Given the description of an element on the screen output the (x, y) to click on. 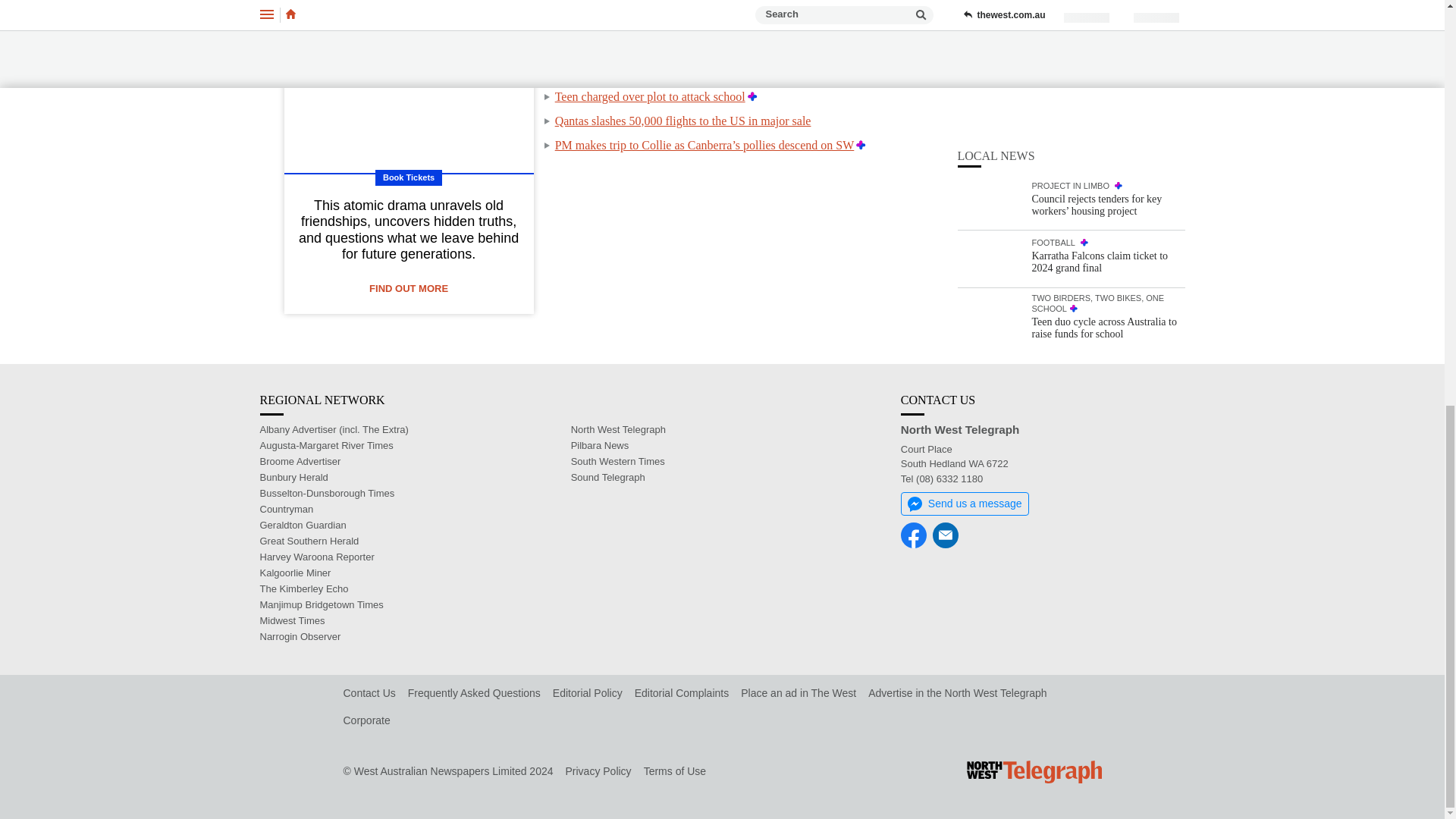
PREMIUM (1118, 173)
Premium (751, 96)
Premium (825, 23)
Premium (860, 144)
Premium (782, 47)
PREMIUM (1073, 296)
PREMIUM (1083, 230)
Premium (780, 72)
